Given the description of an element on the screen output the (x, y) to click on. 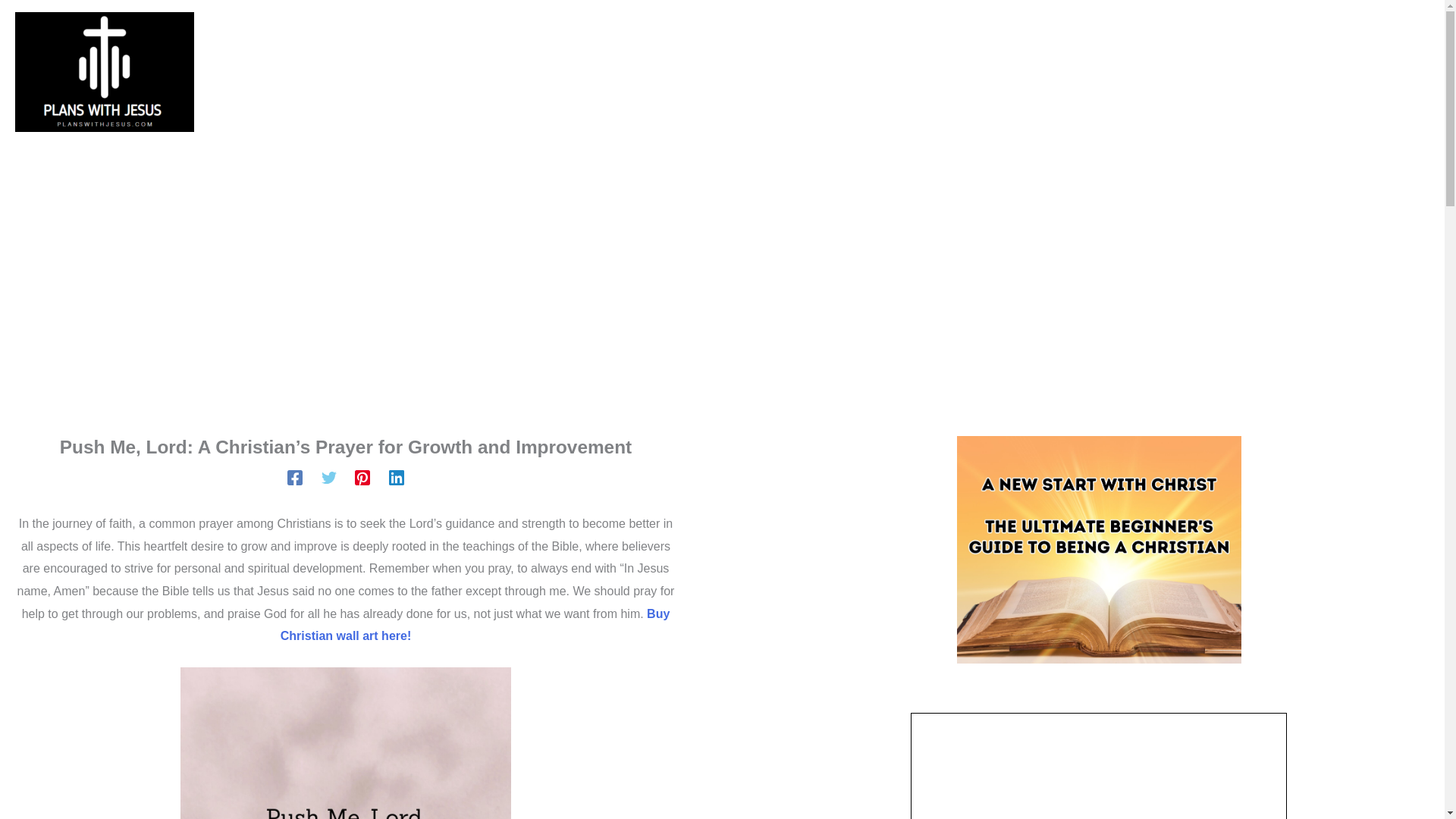
FAQ (876, 71)
About Us (788, 71)
Latest (574, 71)
Buy Christian wall art here! (475, 624)
Contact Us (675, 71)
